Given the description of an element on the screen output the (x, y) to click on. 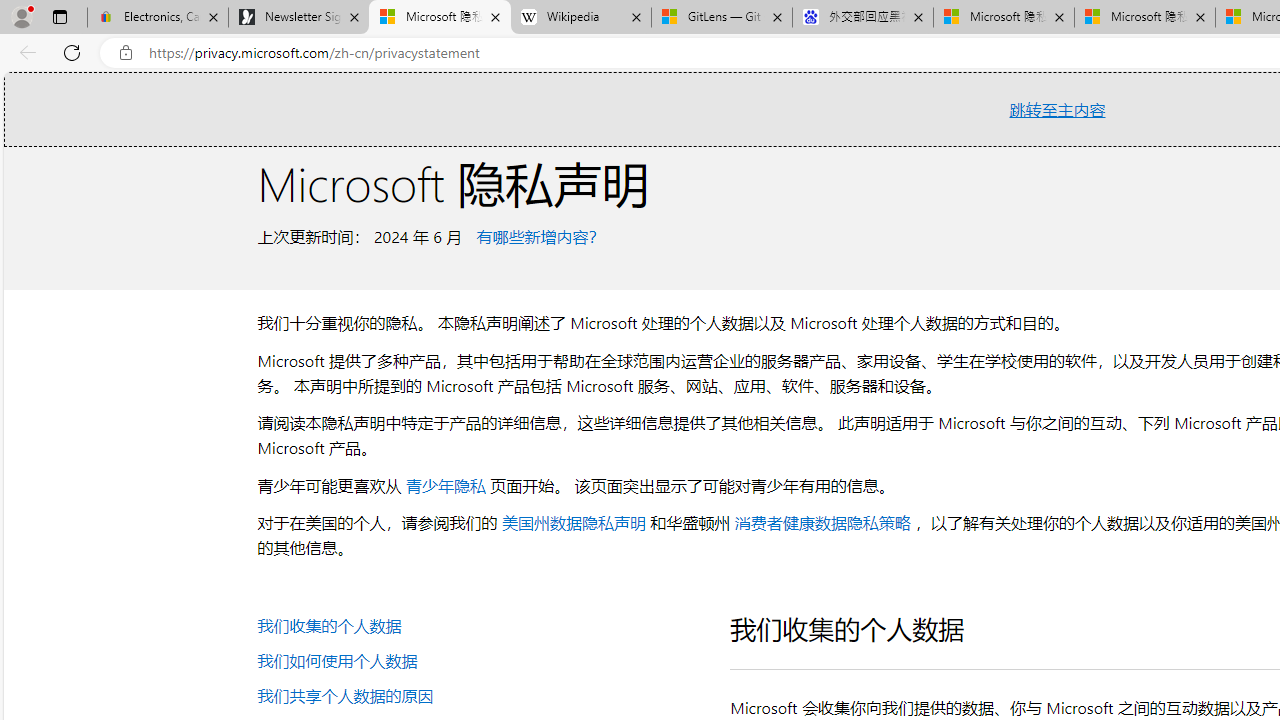
Newsletter Sign Up (298, 17)
